Given the description of an element on the screen output the (x, y) to click on. 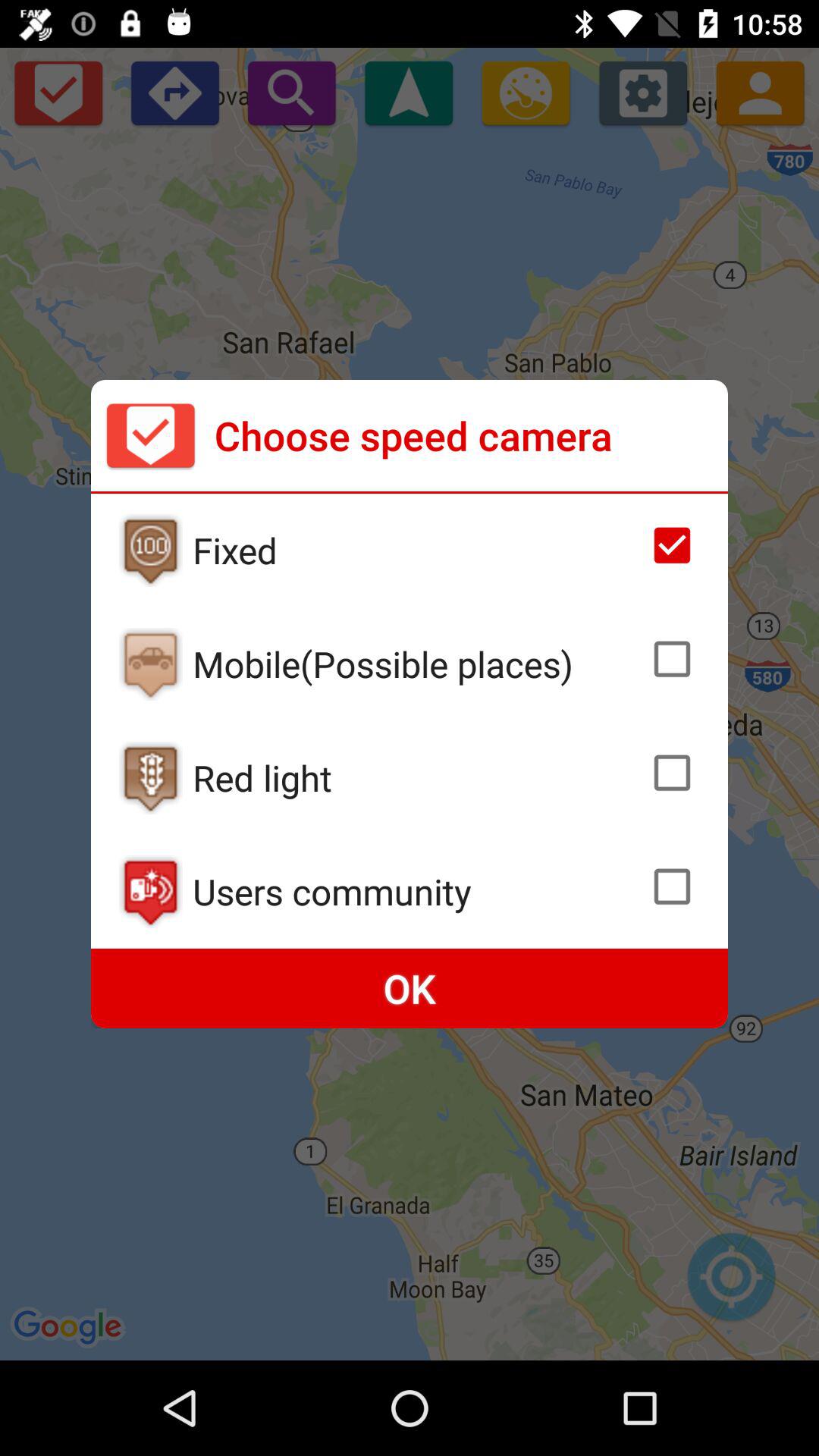
choose item next to the choose speed camera (150, 435)
